Given the description of an element on the screen output the (x, y) to click on. 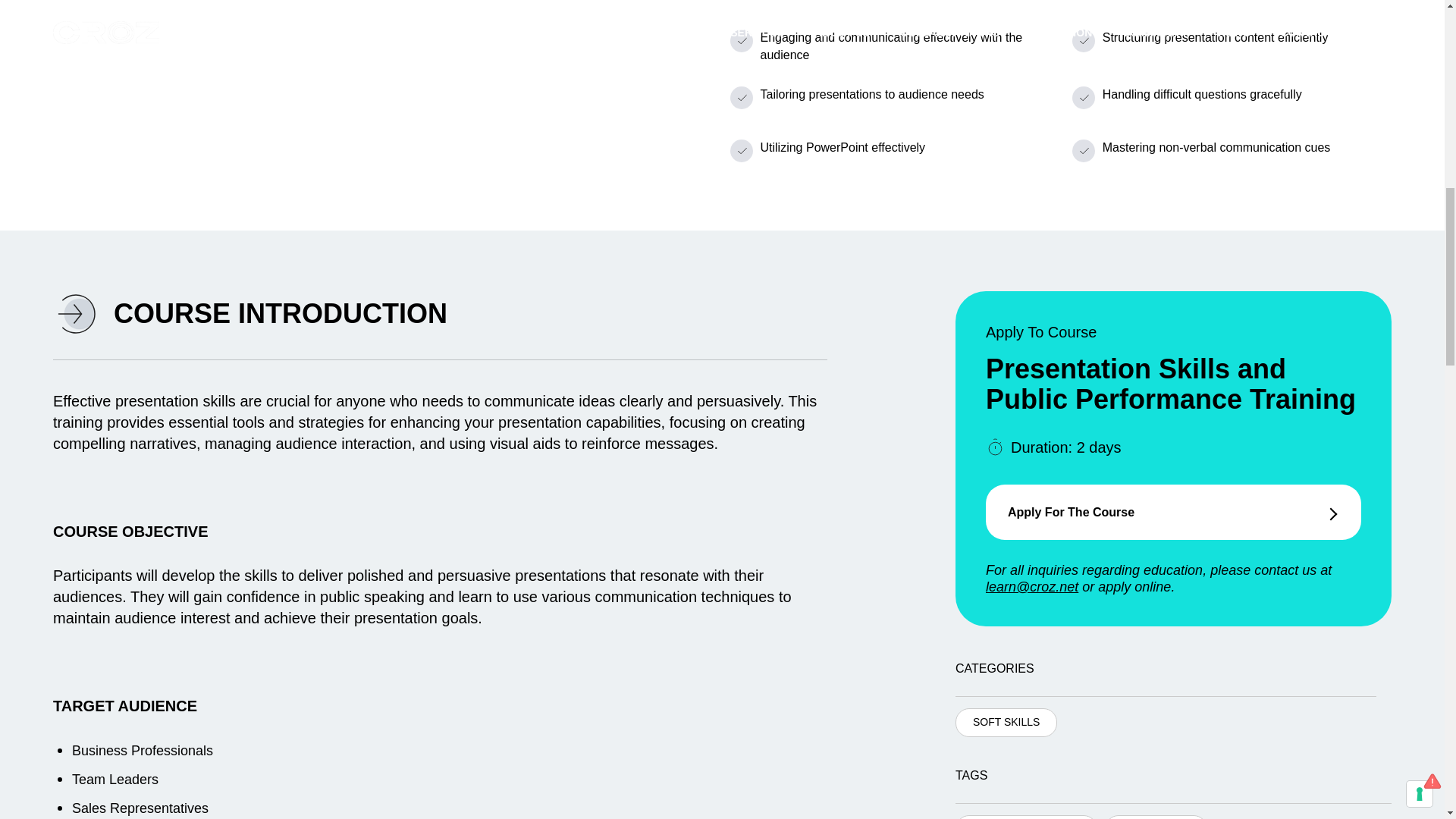
SOFT SKILLS (1006, 722)
SOFT SKILLS (1156, 816)
Apply For The Course (1173, 511)
BUSINESS ANALYSIS (1026, 816)
